Given the description of an element on the screen output the (x, y) to click on. 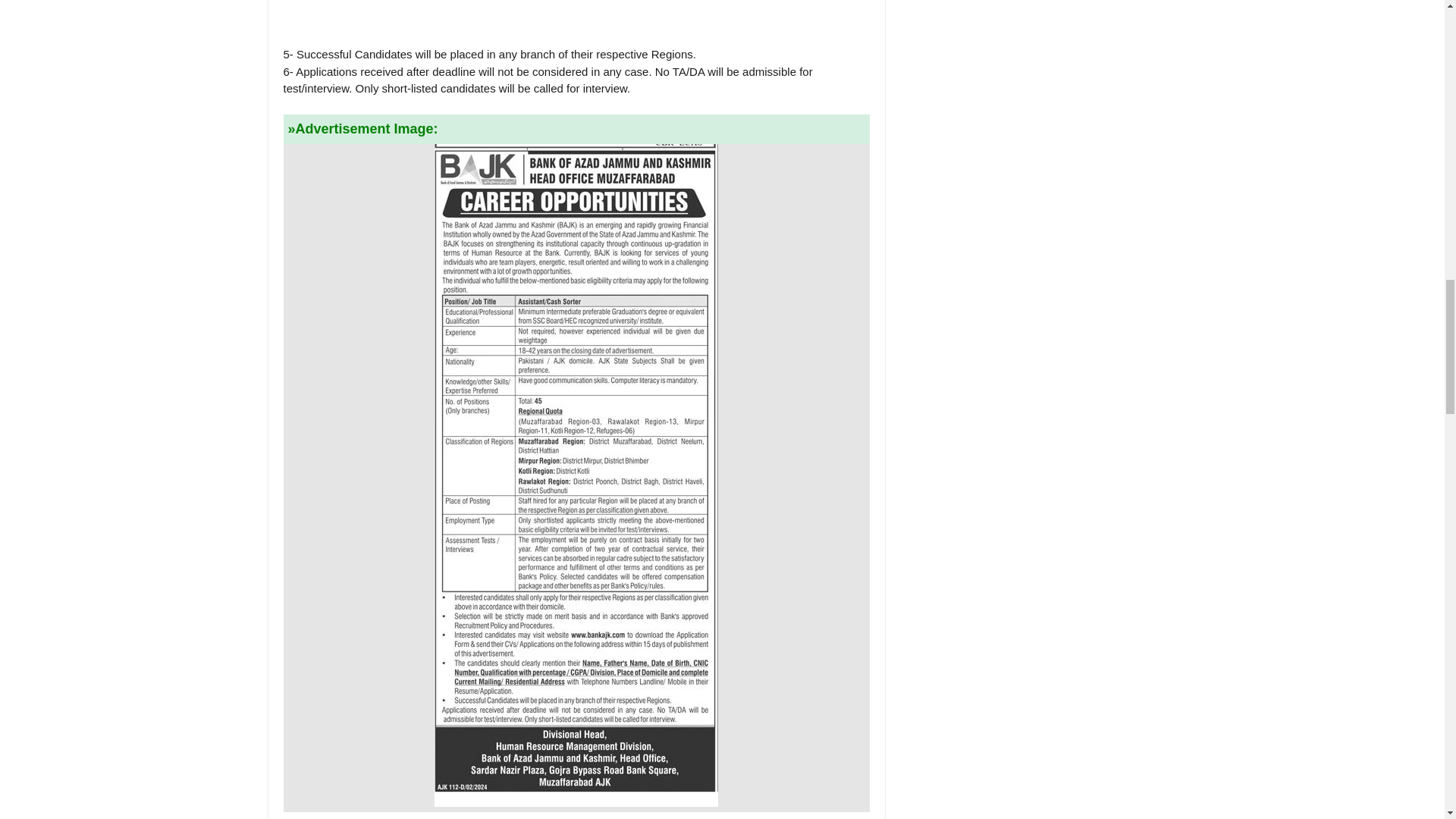
Advertisement (576, 14)
